Given the description of an element on the screen output the (x, y) to click on. 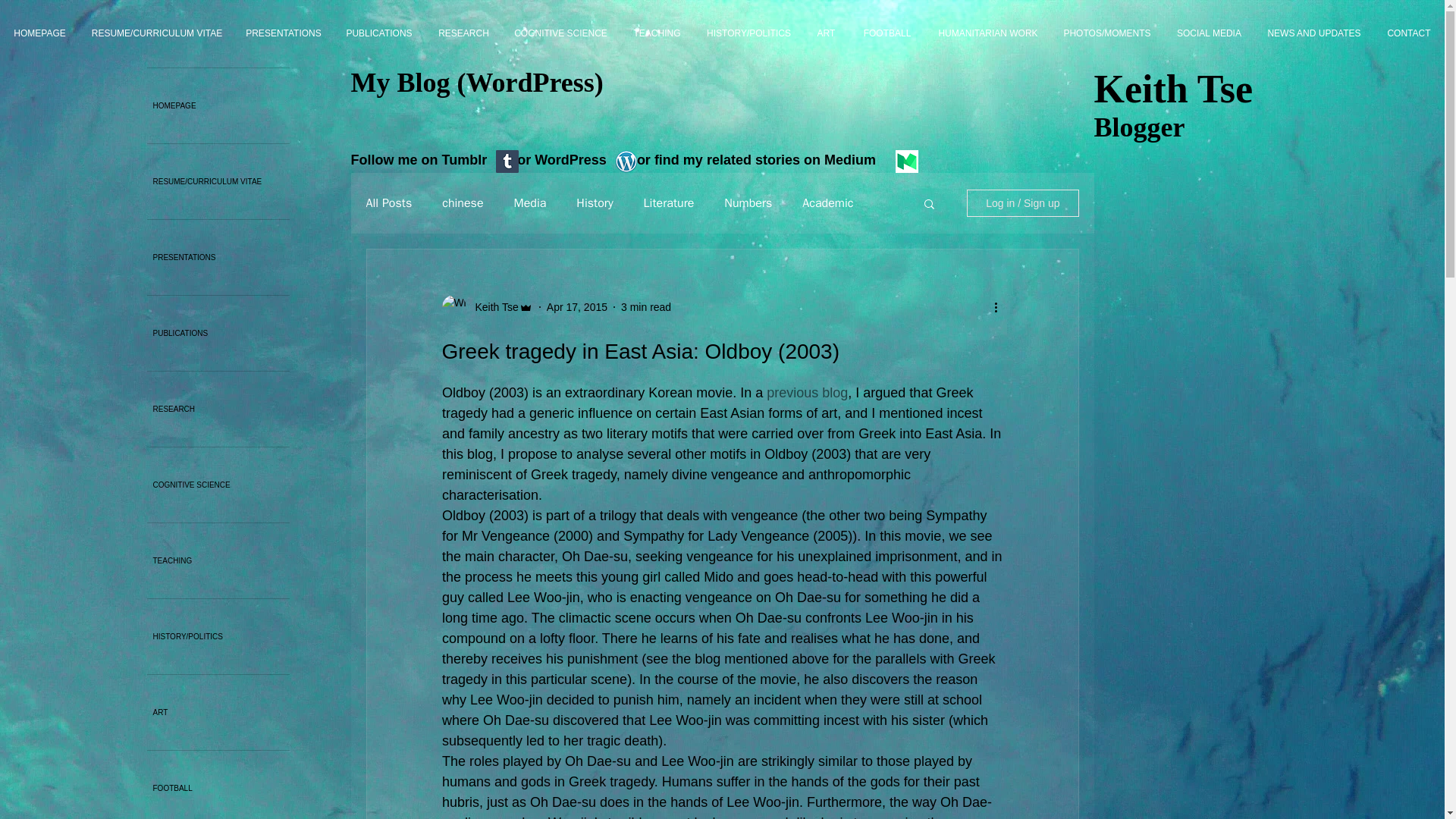
HOMEPAGE (40, 33)
Keith Tse (491, 306)
Apr 17, 2015 (577, 306)
3 min read (646, 306)
